Given the description of an element on the screen output the (x, y) to click on. 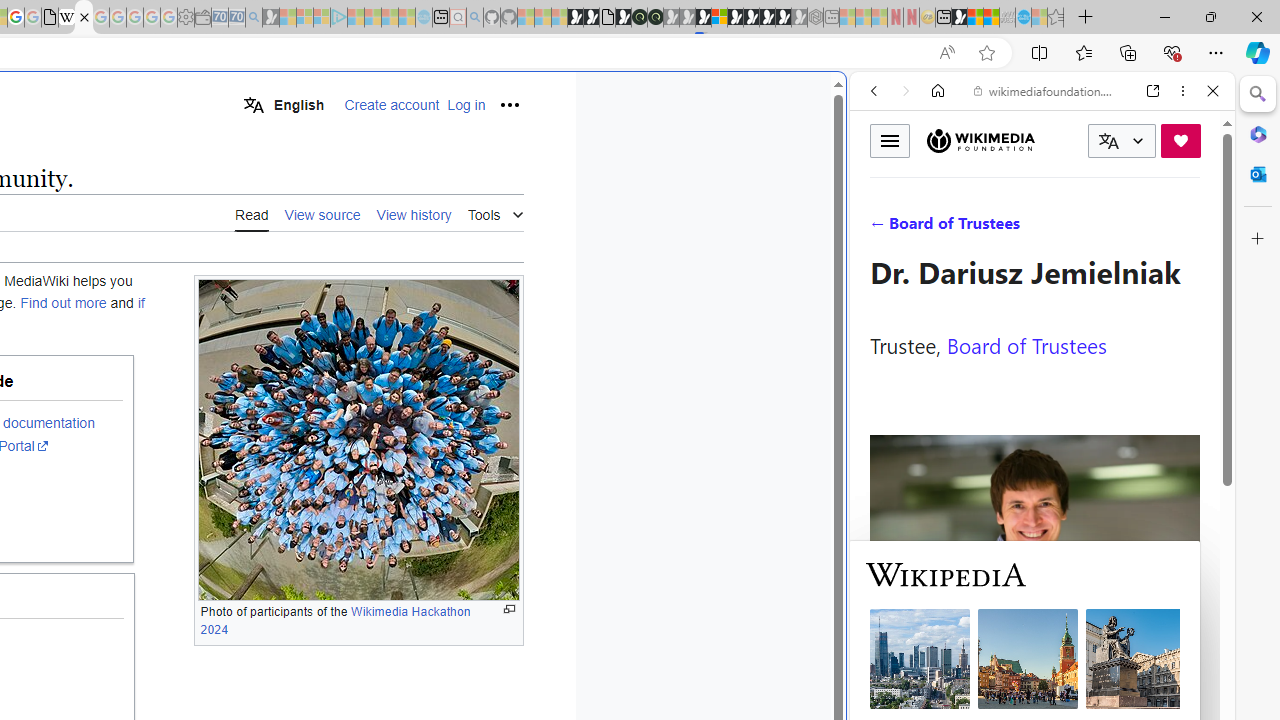
Forward (906, 91)
Class: b_serphb (1190, 229)
Home | Sky Blue Bikes - Sky Blue Bikes (687, 426)
Play Zoo Boom in your browser | Games from Microsoft Start (591, 17)
Wikimedia Foundation (980, 140)
Play Free Online Games | Games from Microsoft Start (751, 17)
Sign in to your account (719, 17)
Close Outlook pane (1258, 174)
